Given the description of an element on the screen output the (x, y) to click on. 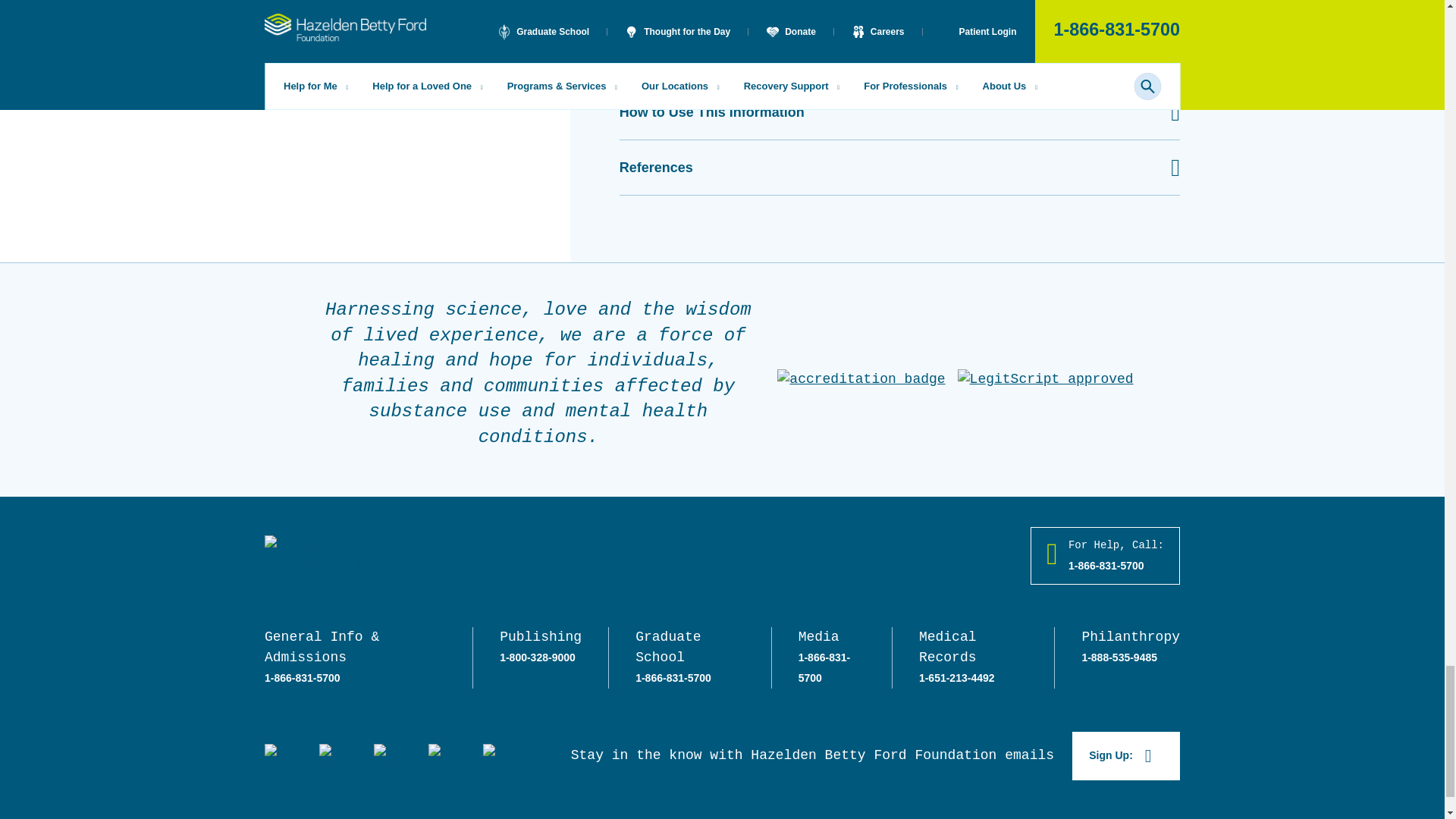
LinkedIn (440, 755)
Youtube (494, 755)
Instagram (385, 755)
Verify LegitScript Approval (1046, 379)
Twitter (330, 755)
Facebook (276, 755)
